Given the description of an element on the screen output the (x, y) to click on. 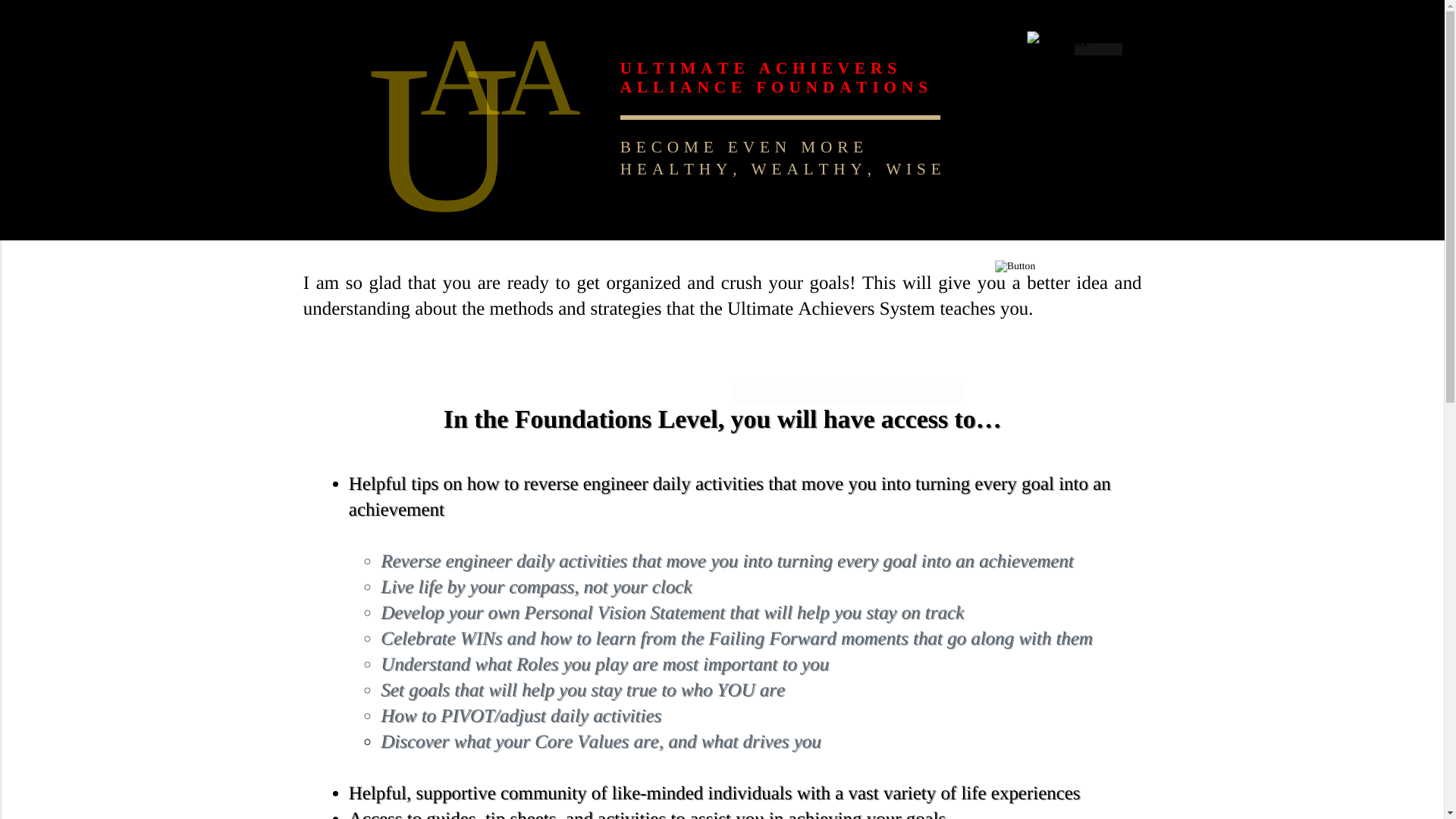
HOME (1074, 42)
